Given the description of an element on the screen output the (x, y) to click on. 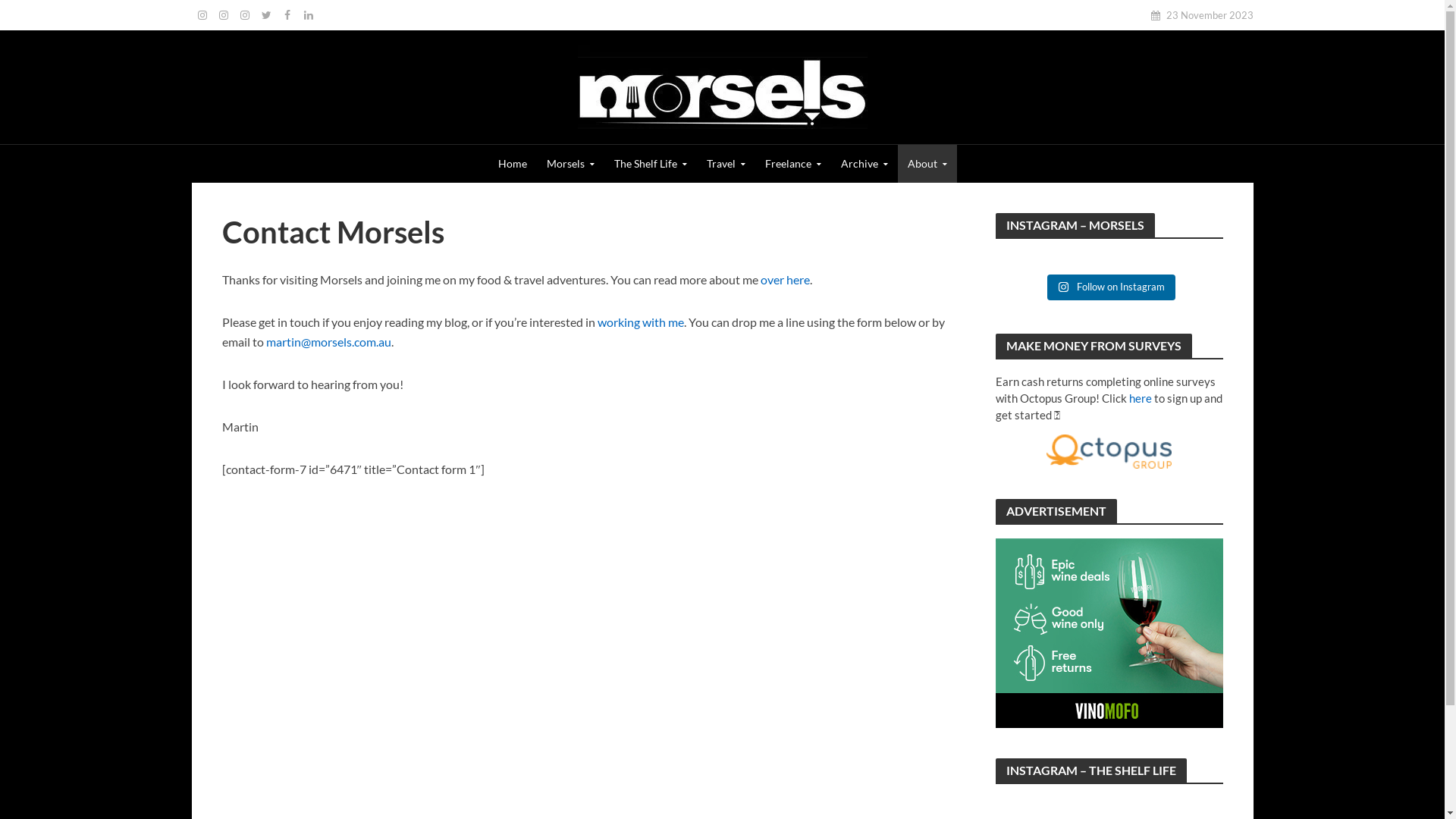
Freelance Element type: text (793, 163)
Follow on Instagram Element type: text (1110, 287)
martin@morsels.com.au Element type: text (327, 342)
Travel Element type: text (725, 163)
Morsels Element type: text (570, 163)
Home Element type: text (512, 163)
here Element type: text (1139, 397)
working with me Element type: text (640, 323)
About Element type: text (927, 163)
over here Element type: text (784, 280)
The Shelf Life Element type: text (649, 163)
Archive Element type: text (864, 163)
